Given the description of an element on the screen output the (x, y) to click on. 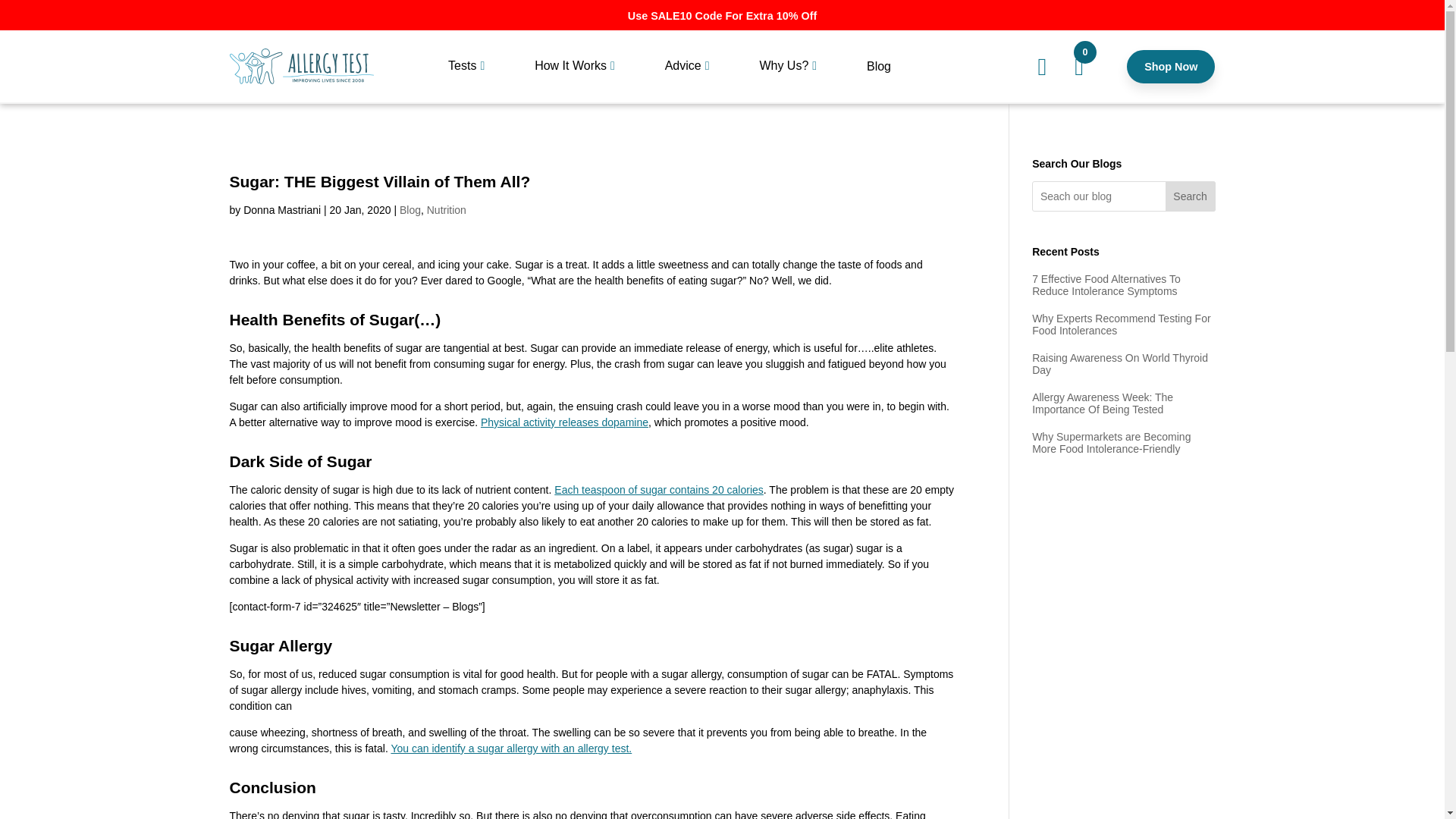
How It Works (575, 78)
Tests (467, 78)
Search (1190, 195)
